Given the description of an element on the screen output the (x, y) to click on. 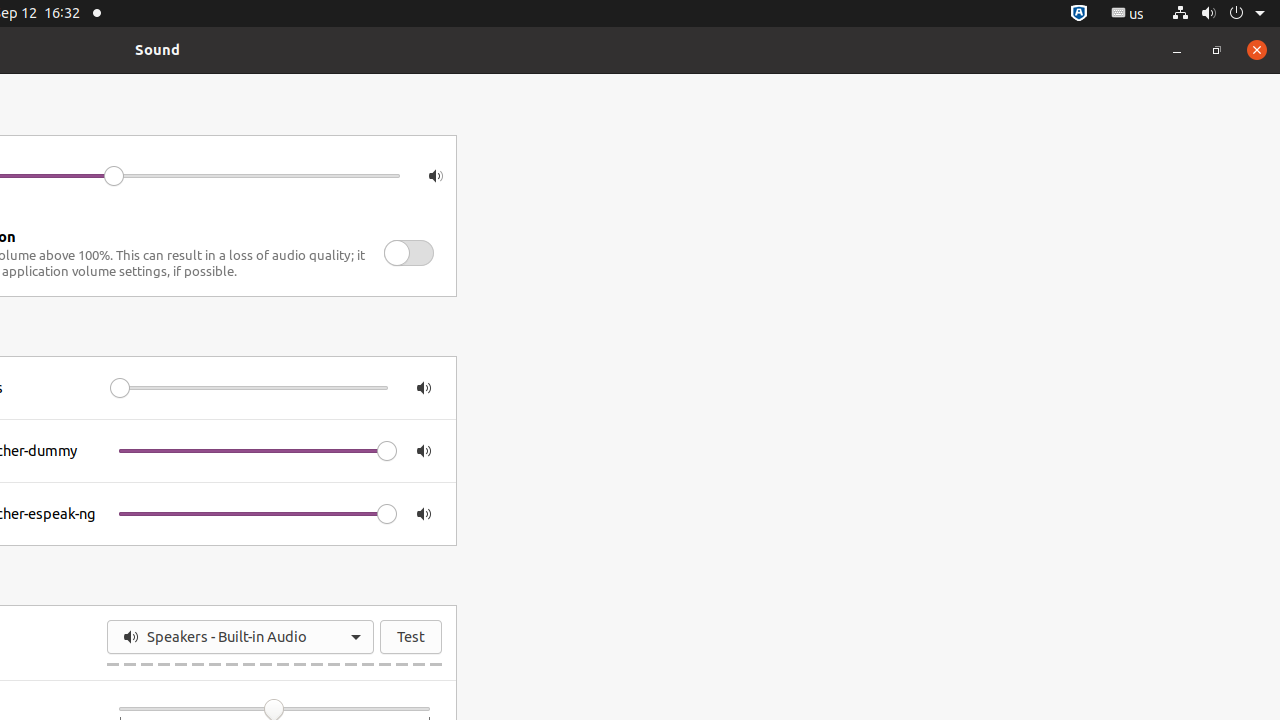
Restore Element type: push-button (1217, 50)
Test Element type: push-button (411, 637)
